Given the description of an element on the screen output the (x, y) to click on. 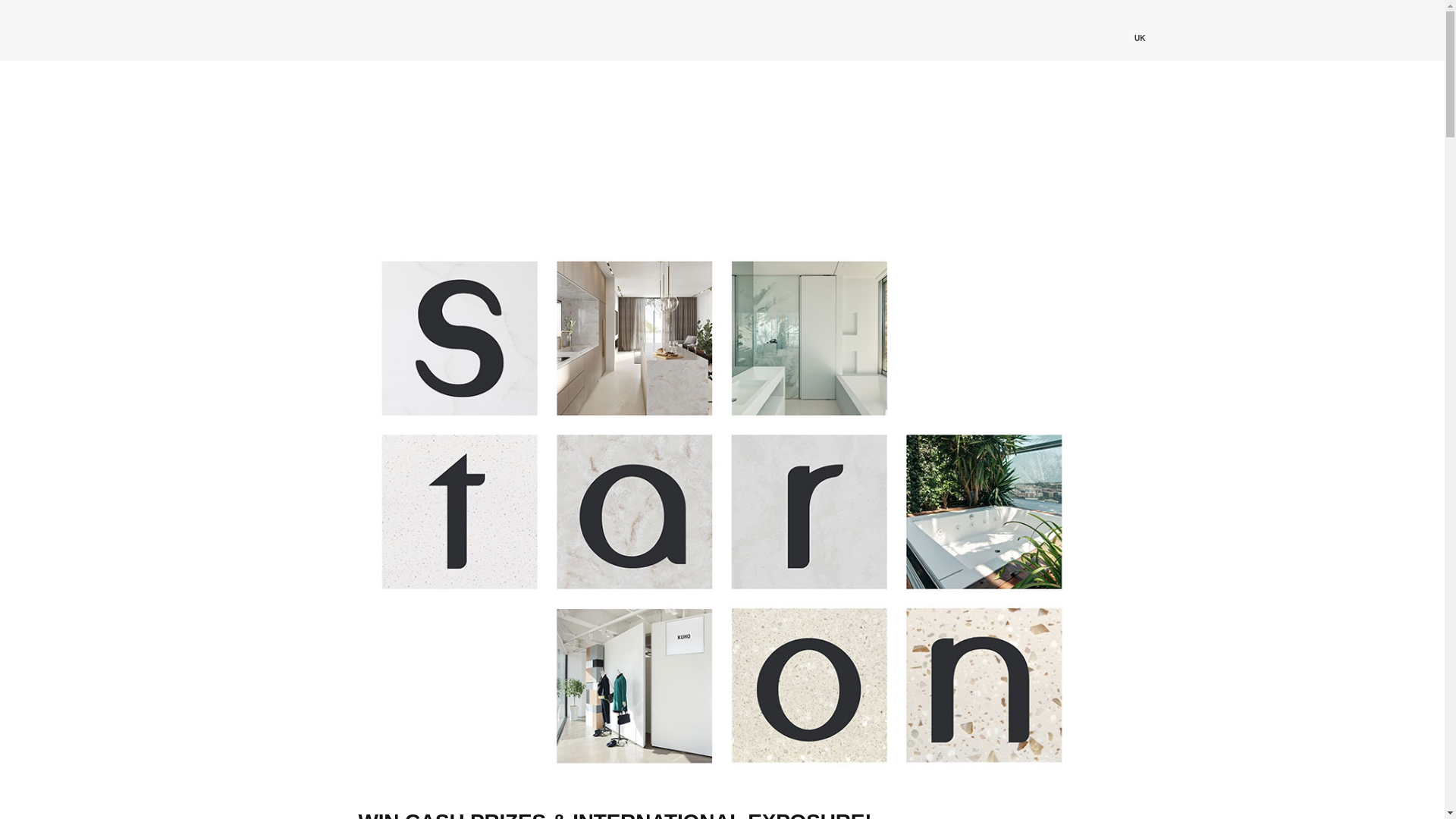
Radianz. (333, 30)
Contact Us (1173, 30)
Social media (1213, 30)
Staron. (208, 30)
Select your language or country (1134, 30)
Go to Home (1094, 30)
Go to social links (1213, 30)
Toggle sitemap (1252, 30)
